Given the description of an element on the screen output the (x, y) to click on. 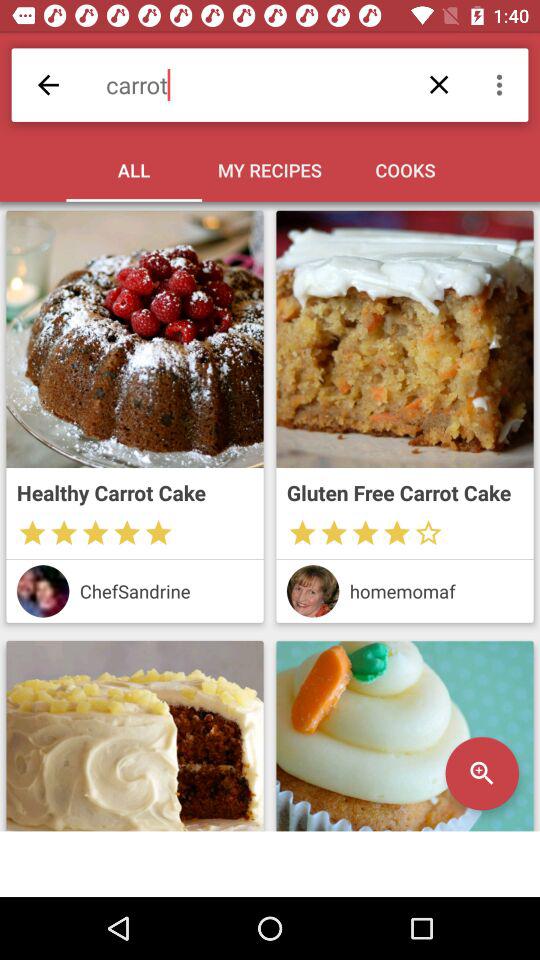
open this user profile (42, 591)
